Given the description of an element on the screen output the (x, y) to click on. 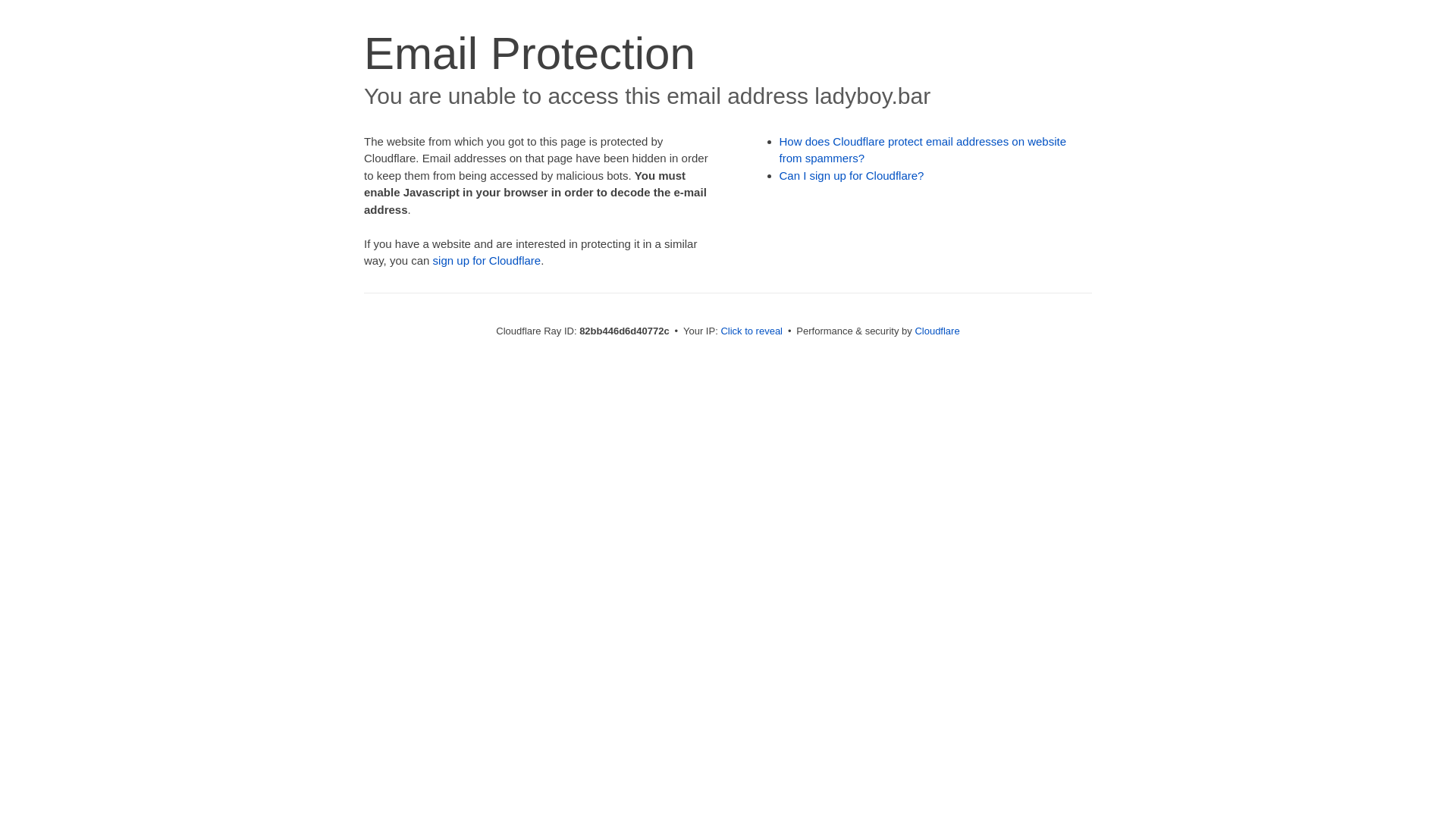
Can I sign up for Cloudflare? Element type: text (851, 175)
Click to reveal Element type: text (751, 330)
Cloudflare Element type: text (936, 330)
sign up for Cloudflare Element type: text (487, 260)
